Given the description of an element on the screen output the (x, y) to click on. 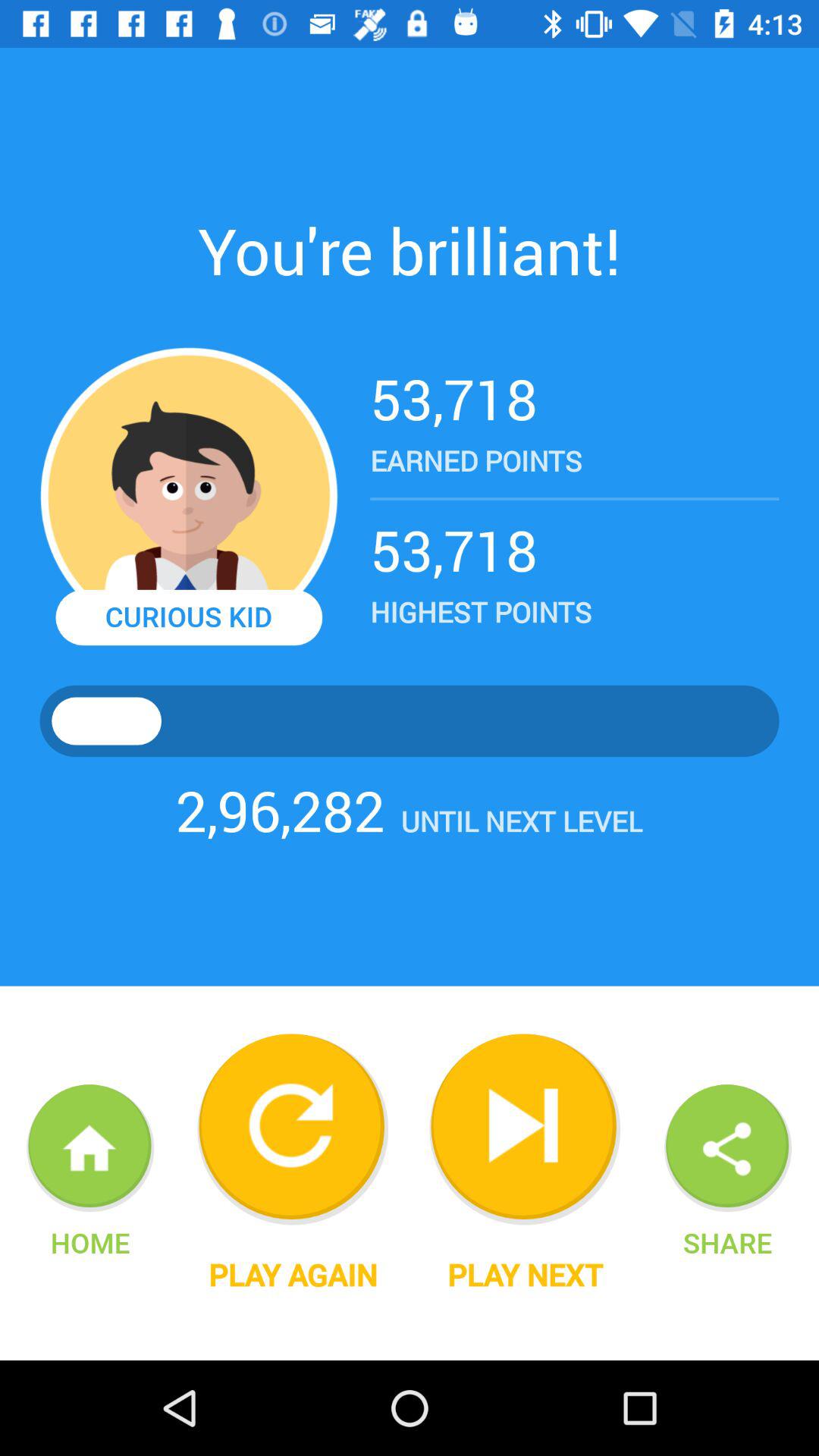
turn on the icon next to the share item (524, 1274)
